Given the description of an element on the screen output the (x, y) to click on. 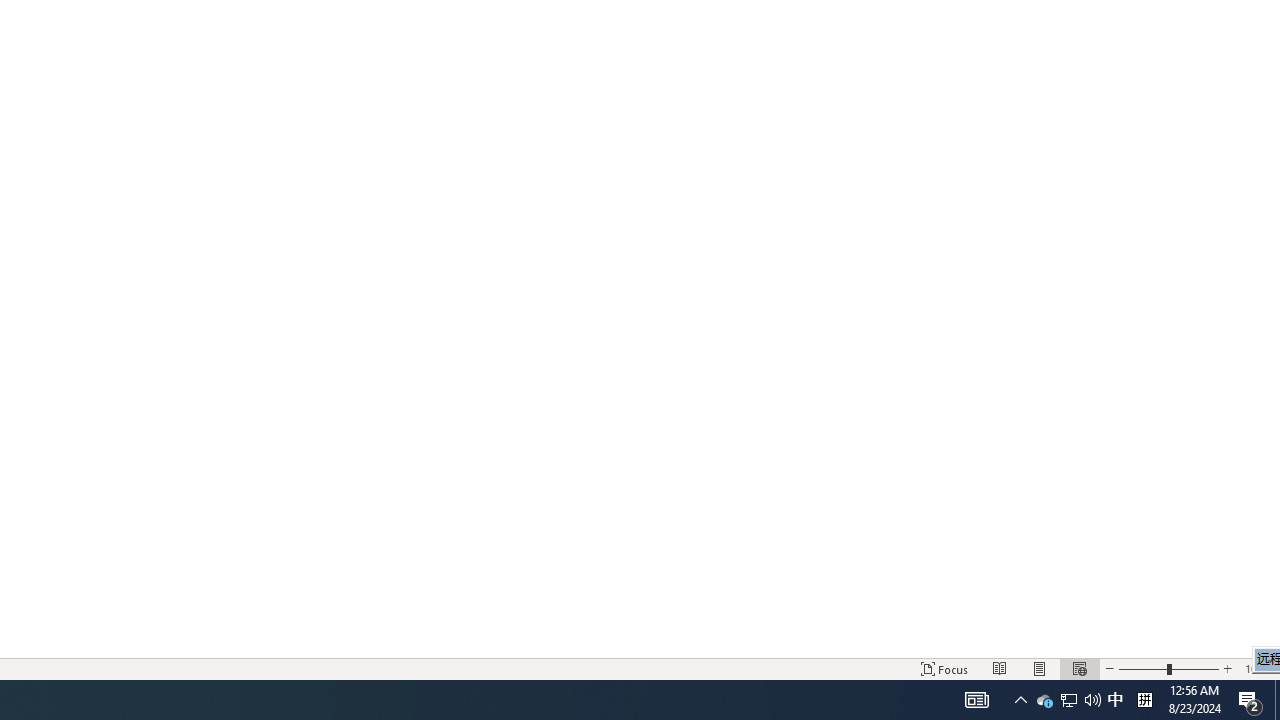
Zoom 100% (1258, 668)
